Given the description of an element on the screen output the (x, y) to click on. 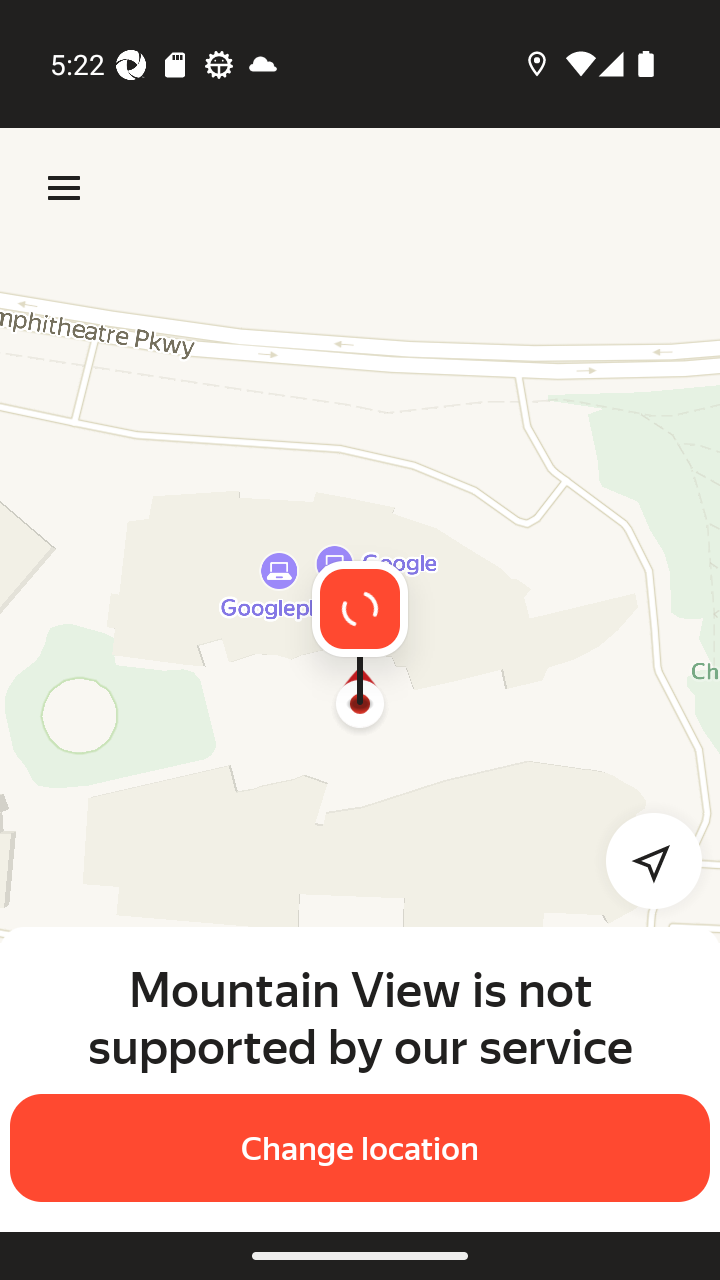
Menu Menu Menu (64, 188)
Detect my location (641, 860)
Mountain View is not supported by our service (360, 1017)
Change location (359, 1147)
